Given the description of an element on the screen output the (x, y) to click on. 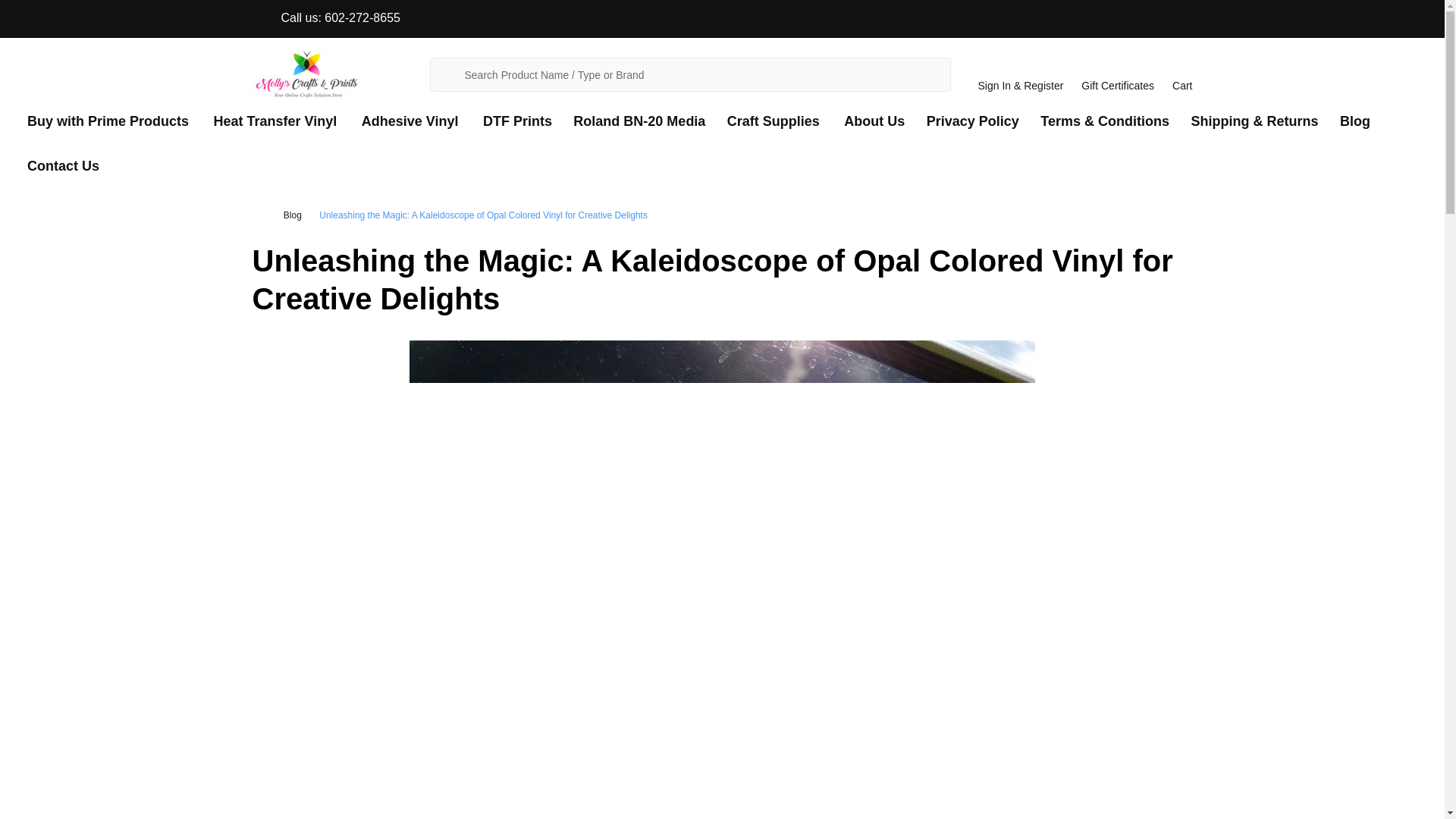
Molly's Craft Vinyl (305, 74)
Gift Certificates (1117, 74)
Call us: 602-272-8655 (324, 17)
Buy with Prime Products (103, 121)
Heat Transfer Vinyl (272, 121)
Gift Certificates (1117, 74)
